Given the description of an element on the screen output the (x, y) to click on. 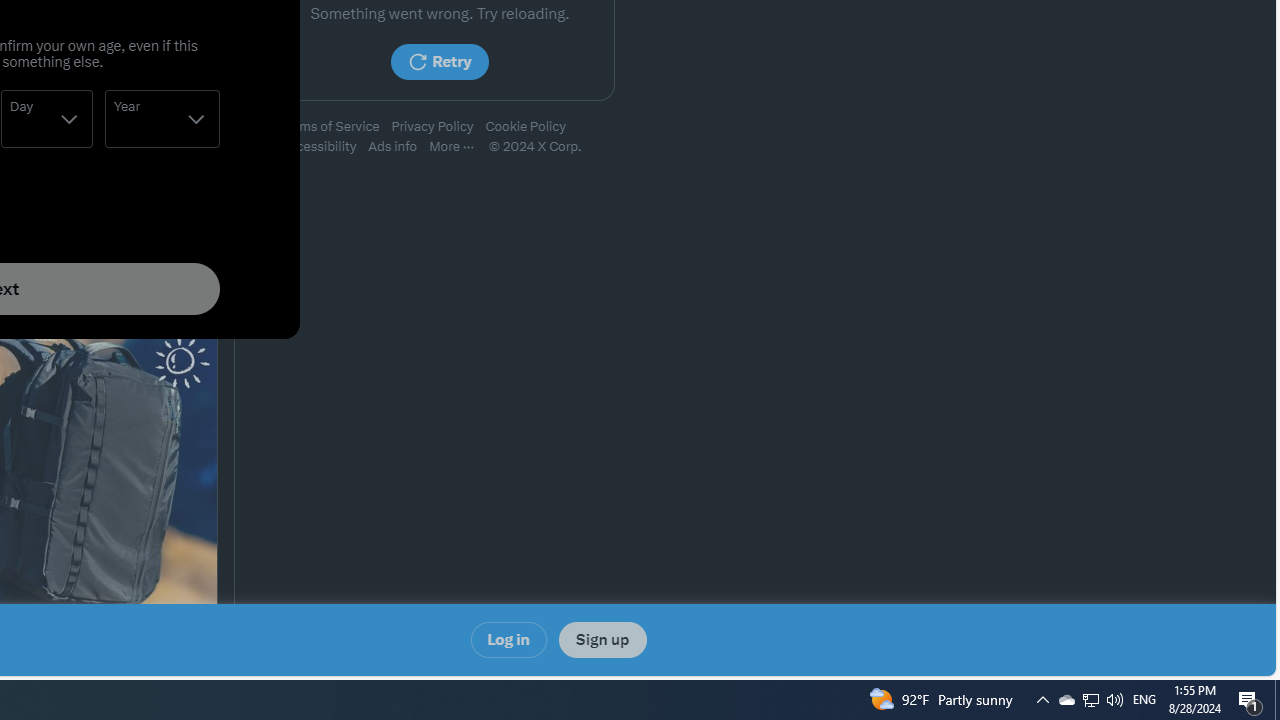
Sign up (602, 640)
Log in (507, 640)
